Given the description of an element on the screen output the (x, y) to click on. 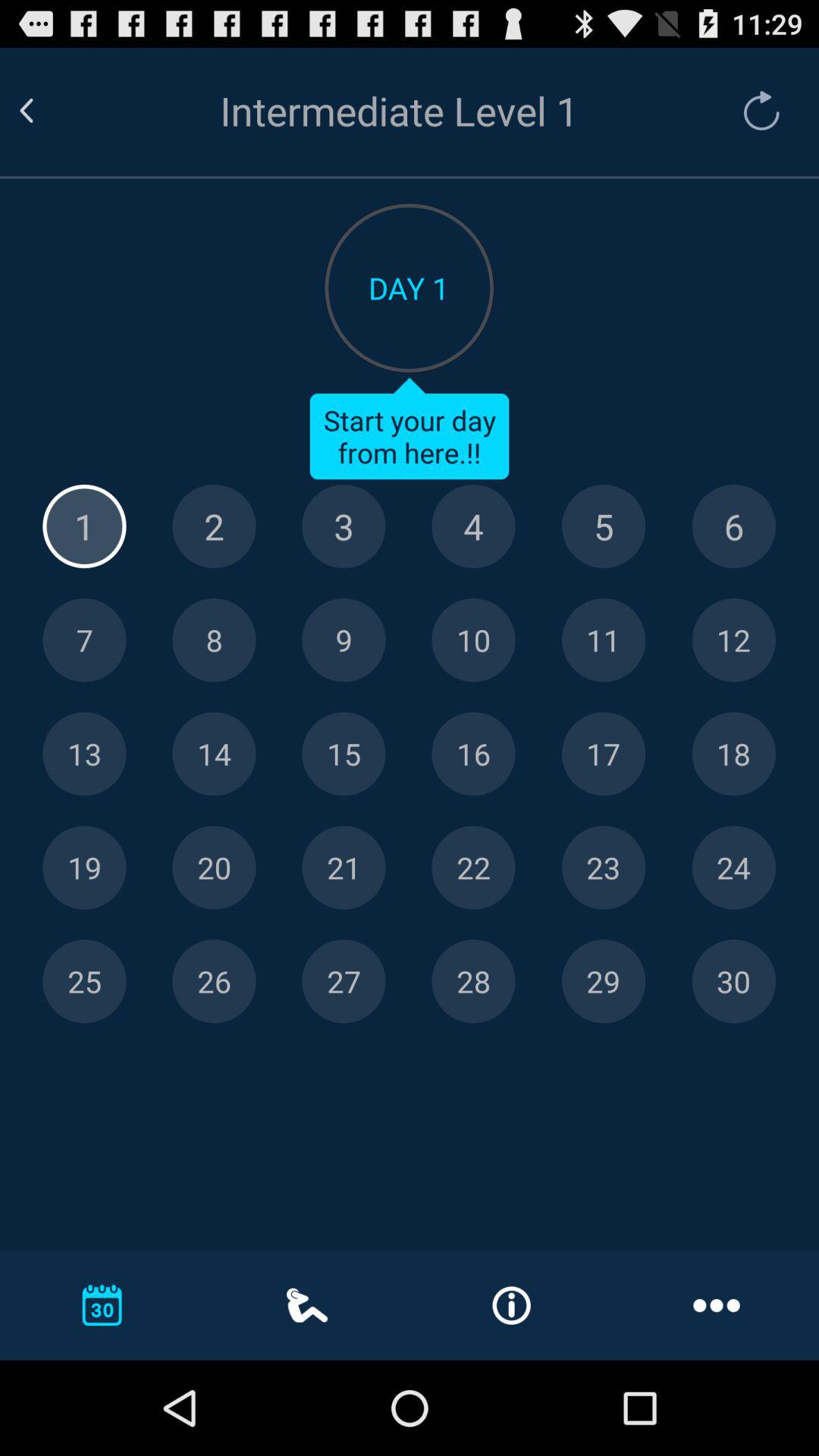
day 3 (343, 526)
